Given the description of an element on the screen output the (x, y) to click on. 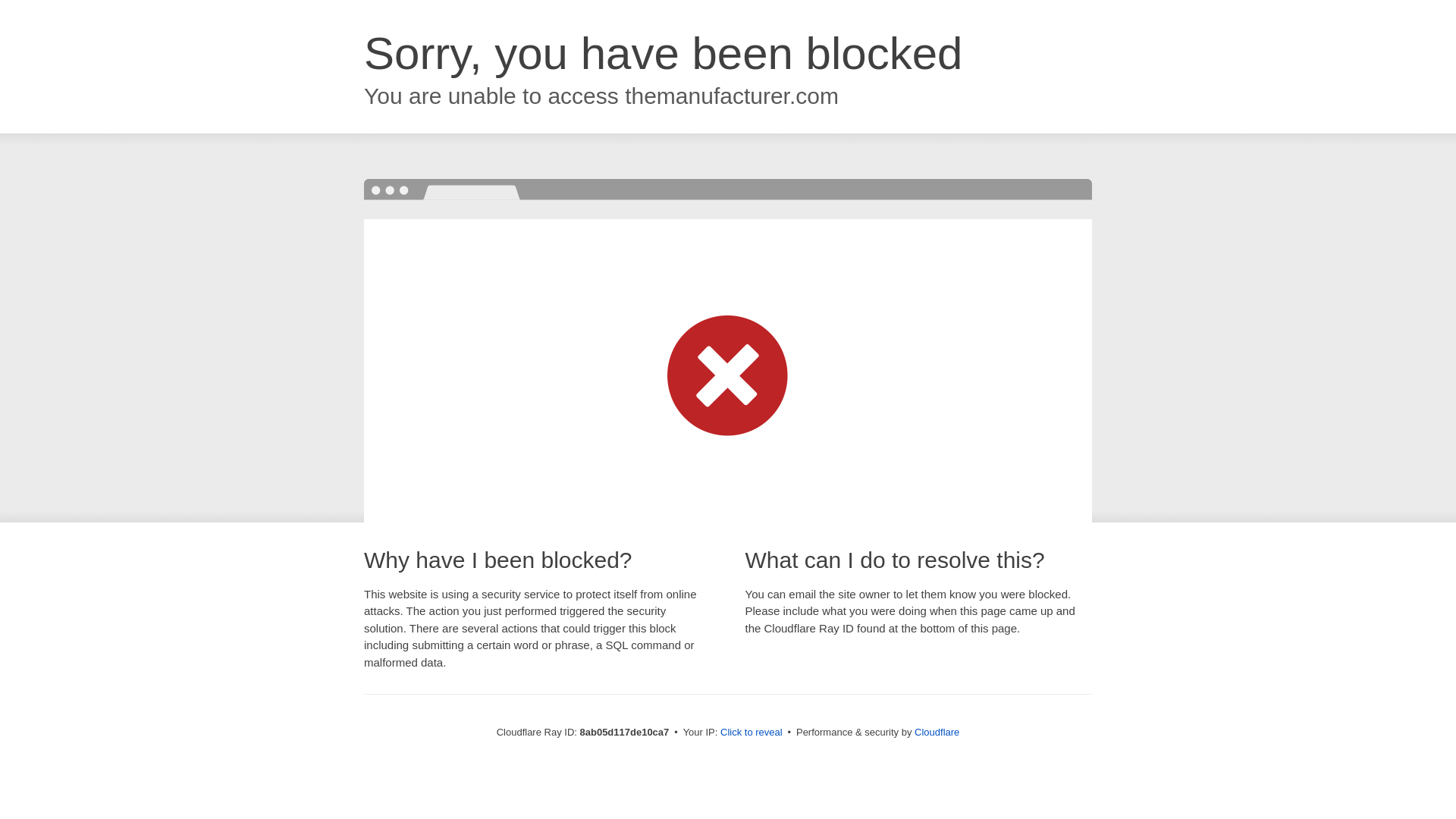
Cloudflare (936, 731)
Click to reveal (751, 732)
